Given the description of an element on the screen output the (x, y) to click on. 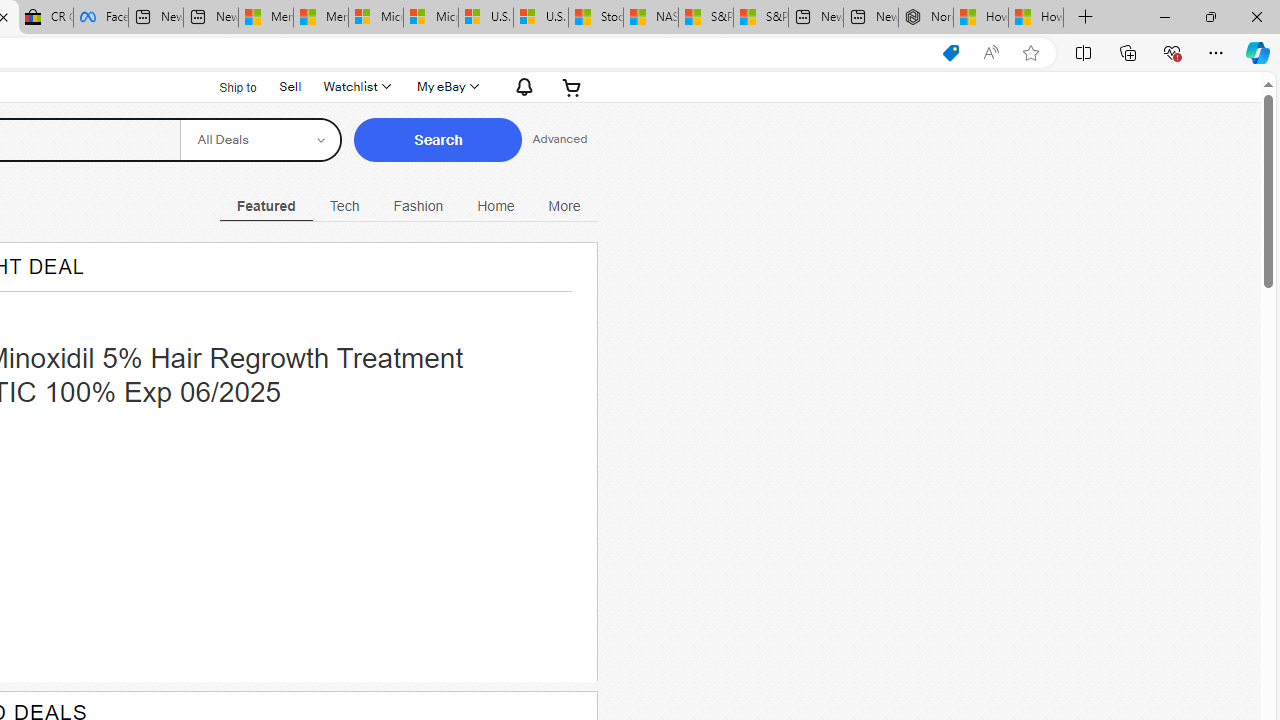
Advanced Search (559, 139)
